Given the description of an element on the screen output the (x, y) to click on. 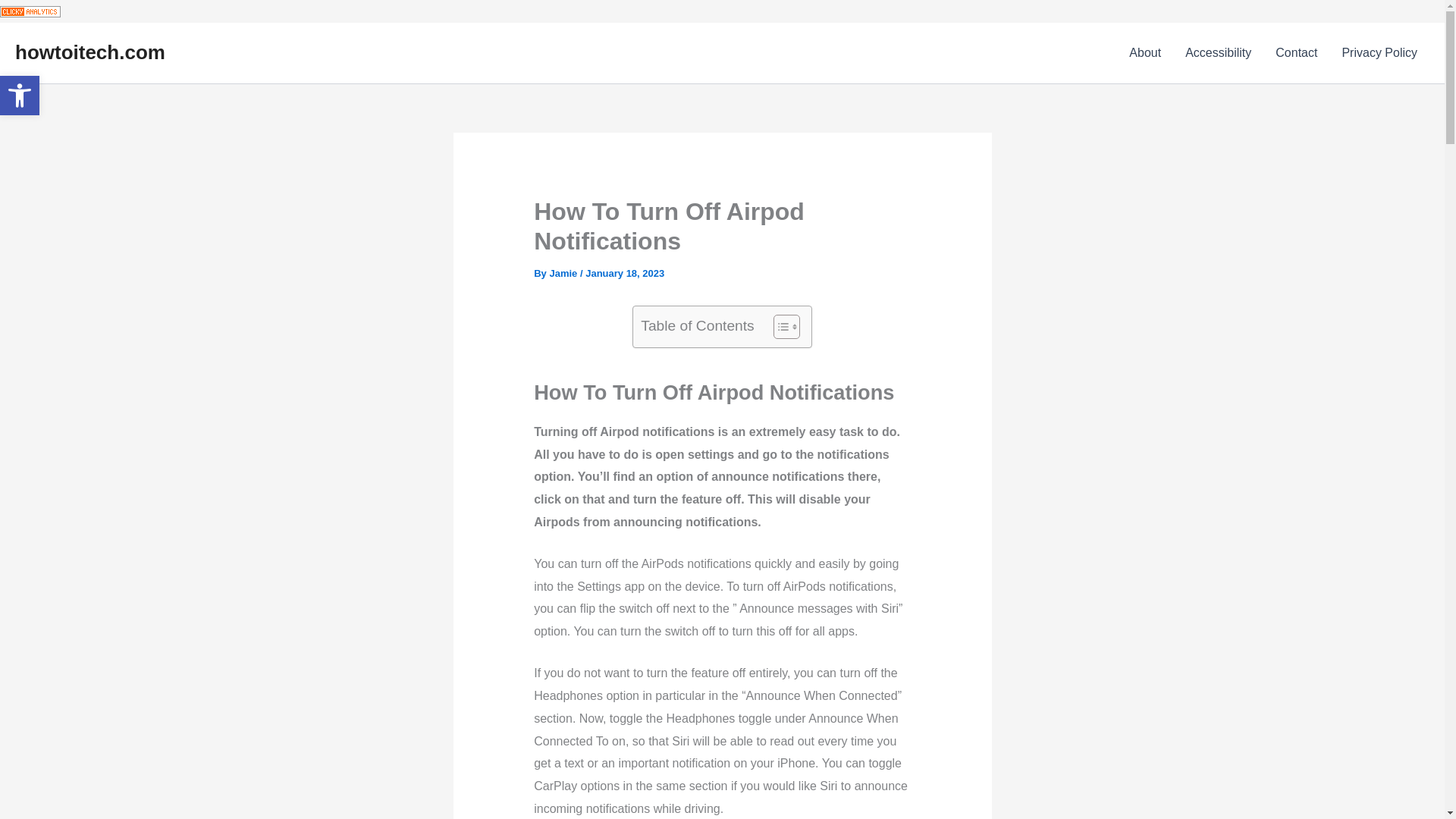
Jamie (563, 273)
howtoitech.com (89, 51)
Contact (1296, 52)
Accessibility (1218, 52)
Privacy Policy (1379, 52)
Accessibility Tools (19, 95)
View all posts by Jamie (19, 95)
Accessibility Tools (563, 273)
About (19, 95)
